Given the description of an element on the screen output the (x, y) to click on. 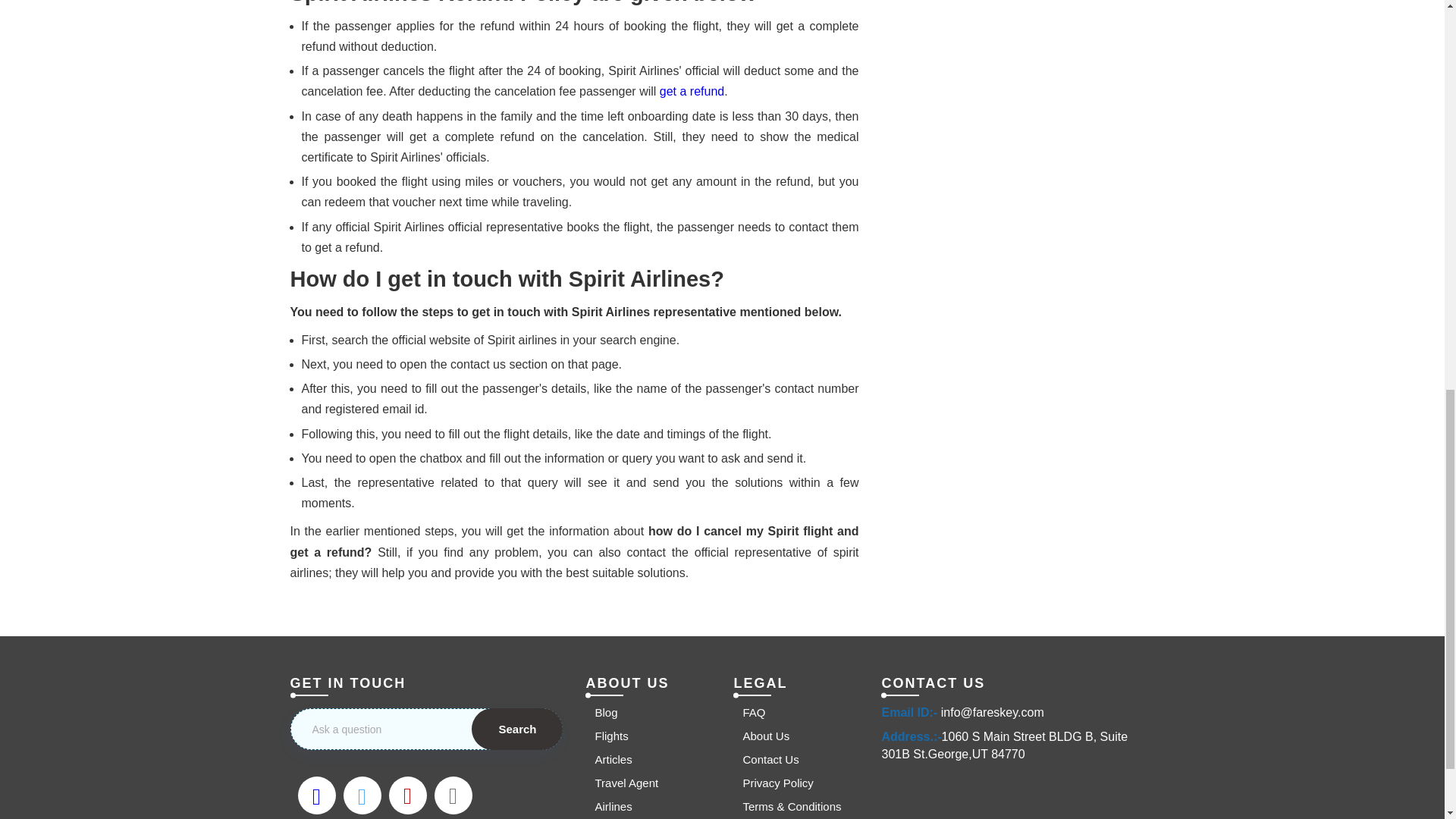
Articles (608, 759)
Contact Us (765, 759)
FAQ (749, 712)
get a refund (691, 91)
Airlines (608, 806)
Search (516, 729)
Blog (601, 712)
Flights (606, 735)
Travel Agent (621, 782)
About Us (761, 735)
